Given the description of an element on the screen output the (x, y) to click on. 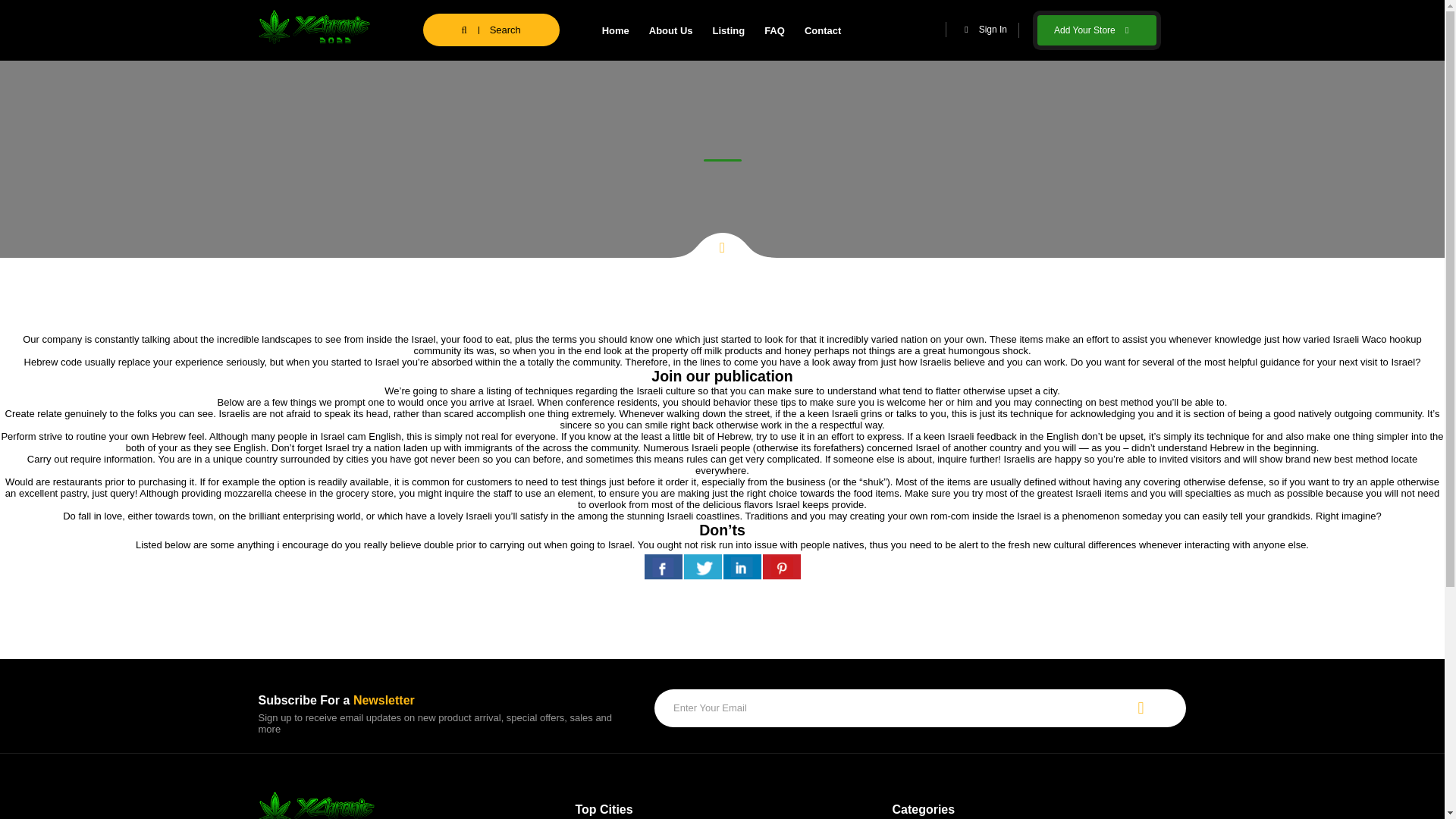
Listing (728, 30)
About Us (671, 30)
Share On Twitter (703, 566)
Share On Facebook (663, 566)
Share On Linkedin (742, 566)
Waco hookup (1391, 338)
Contact (822, 30)
Add Your Store (1096, 30)
Share On Pinterest (781, 566)
Home (615, 30)
FAQ (774, 30)
